Given the description of an element on the screen output the (x, y) to click on. 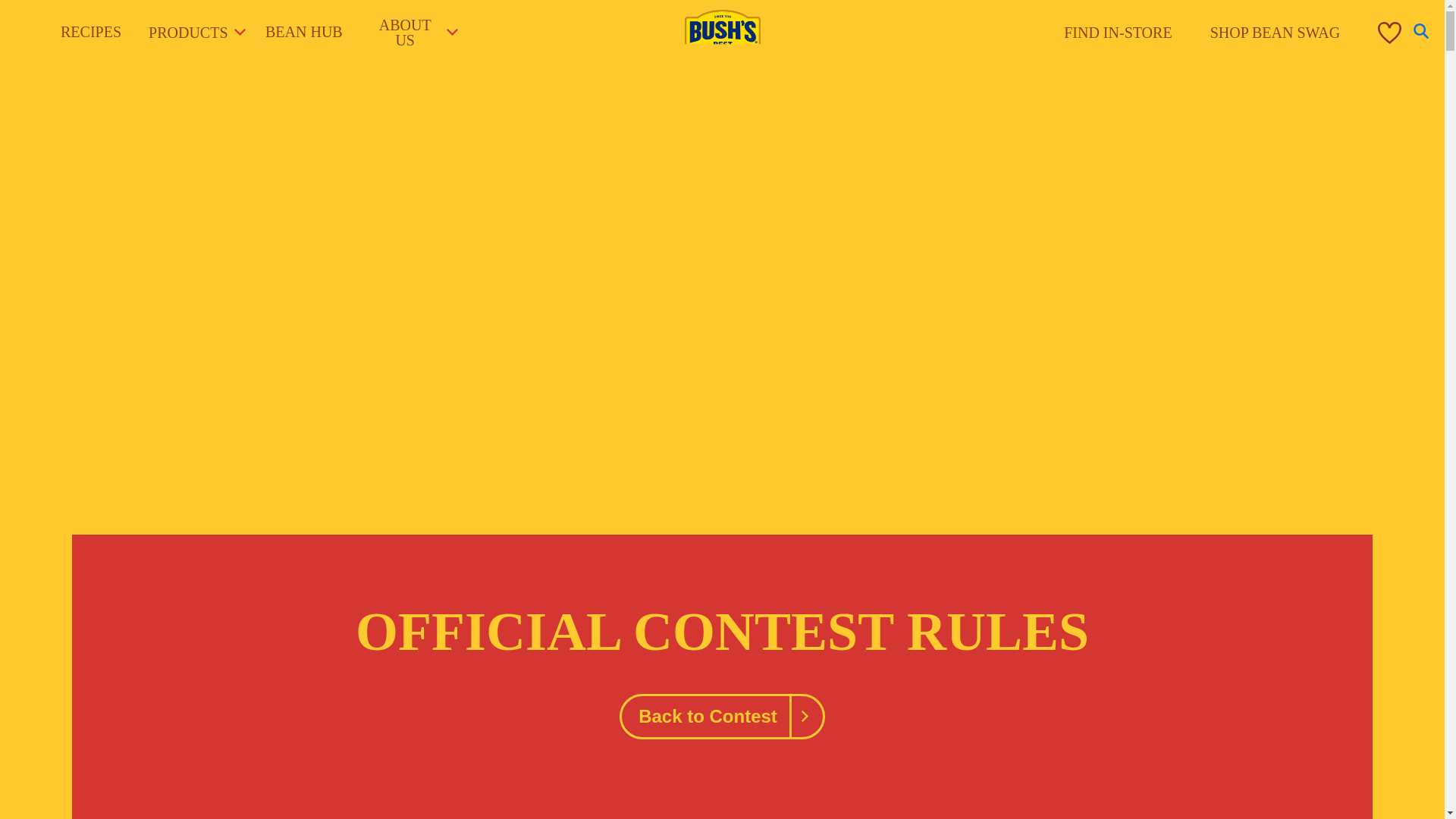
RECIPES (90, 32)
Back to Contest (722, 715)
Submit Search (1130, 7)
ABOUT US (411, 32)
FIND IN-STORE (1118, 32)
My Favorites (1388, 33)
Back to Contest (721, 715)
SHOP BEAN SWAG (1274, 32)
BEAN HUB (303, 32)
PRODUCTS (189, 32)
